Given the description of an element on the screen output the (x, y) to click on. 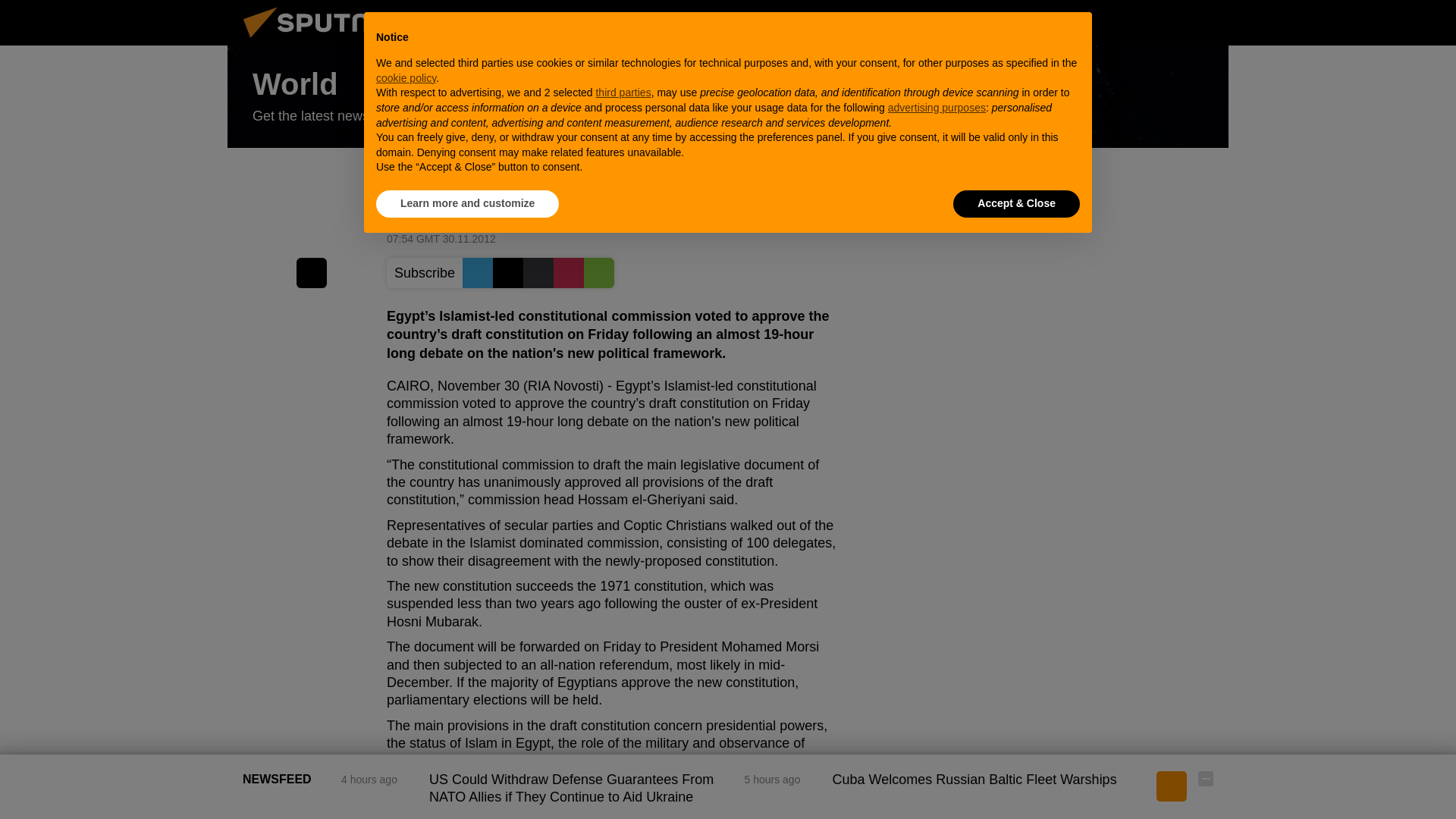
World (727, 96)
Chats (1206, 22)
Authorization (1129, 22)
Sputnik International (325, 41)
